Given the description of an element on the screen output the (x, y) to click on. 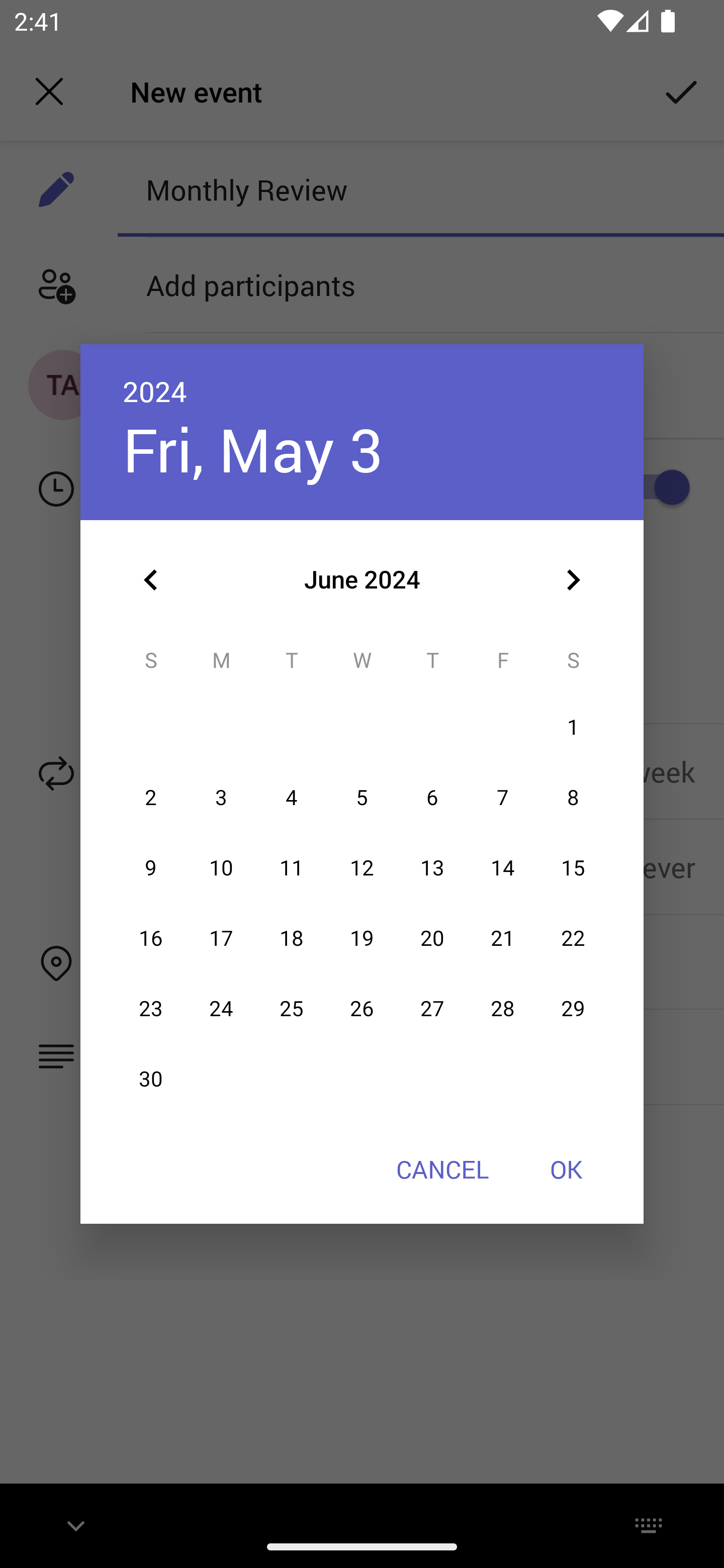
2024 (154, 391)
Fri, May 3 (252, 449)
Previous month (150, 579)
Next month (572, 579)
1 01 June 2024 (572, 728)
2 02 June 2024 (150, 797)
3 03 June 2024 (221, 797)
4 04 June 2024 (291, 797)
5 05 June 2024 (361, 797)
6 06 June 2024 (432, 797)
7 07 June 2024 (502, 797)
8 08 June 2024 (572, 797)
9 09 June 2024 (150, 867)
10 10 June 2024 (221, 867)
11 11 June 2024 (291, 867)
12 12 June 2024 (361, 867)
13 13 June 2024 (432, 867)
14 14 June 2024 (502, 867)
15 15 June 2024 (572, 867)
16 16 June 2024 (150, 938)
17 17 June 2024 (221, 938)
18 18 June 2024 (291, 938)
19 19 June 2024 (361, 938)
20 20 June 2024 (432, 938)
21 21 June 2024 (502, 938)
22 22 June 2024 (572, 938)
23 23 June 2024 (150, 1008)
24 24 June 2024 (221, 1008)
25 25 June 2024 (291, 1008)
26 26 June 2024 (361, 1008)
27 27 June 2024 (432, 1008)
28 28 June 2024 (502, 1008)
29 29 June 2024 (572, 1008)
30 30 June 2024 (150, 1079)
CANCEL (442, 1168)
OK (565, 1168)
